Given the description of an element on the screen output the (x, y) to click on. 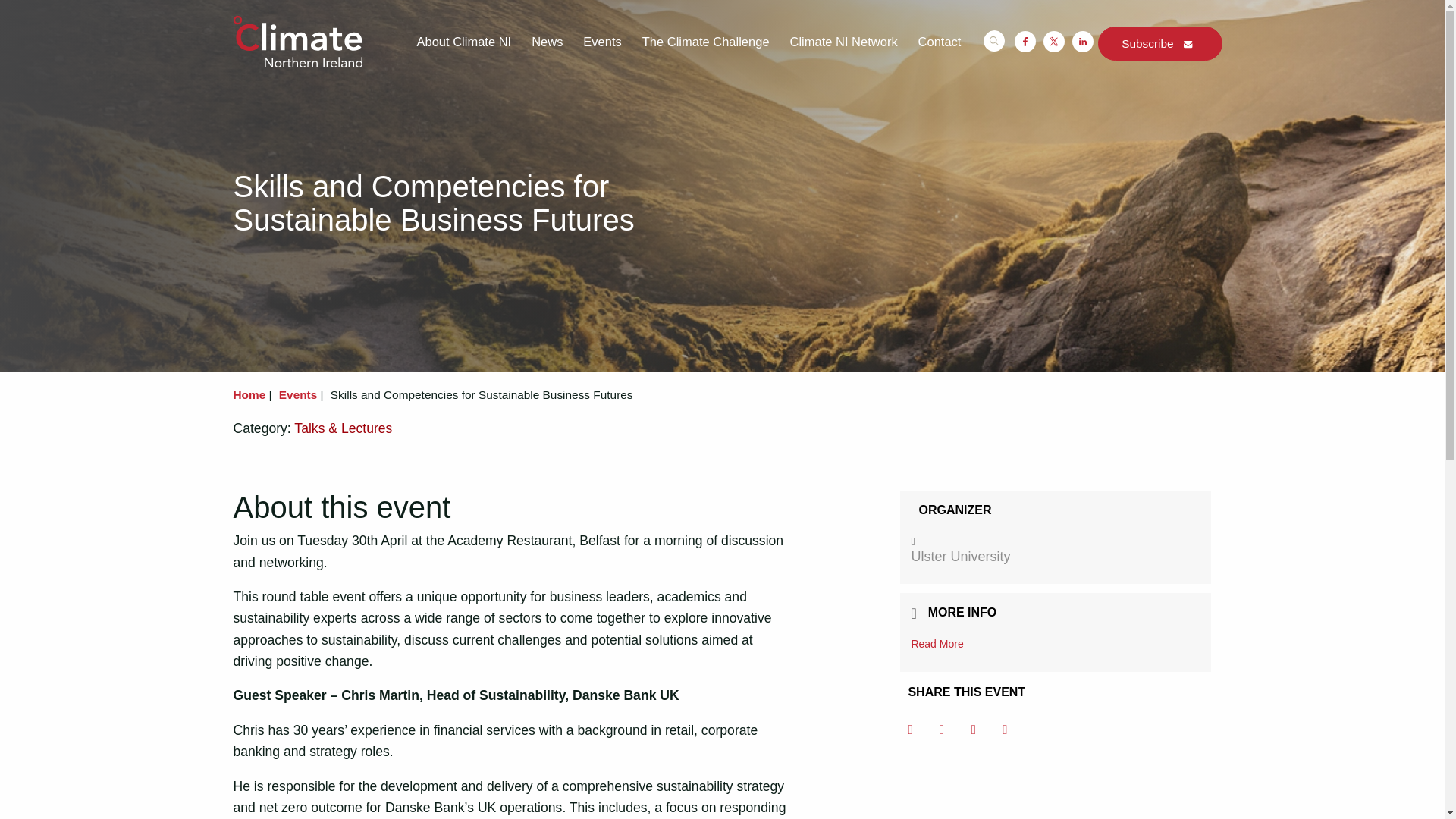
Climate NI (297, 40)
Events (602, 41)
News (546, 41)
The Climate Challenge (706, 41)
About Climate NI (463, 41)
